Given the description of an element on the screen output the (x, y) to click on. 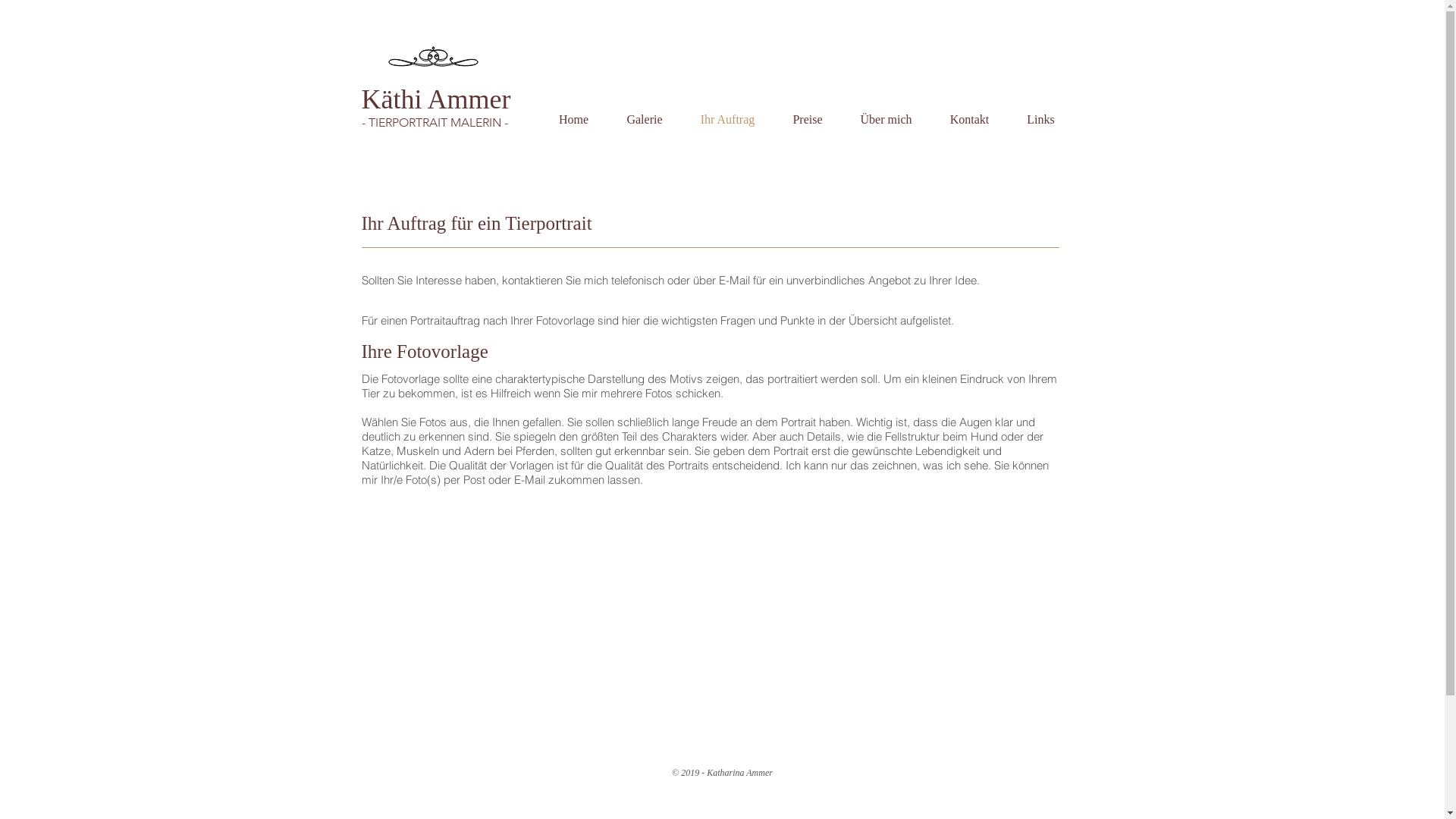
Preise Element type: text (806, 119)
Galerie Element type: text (644, 119)
Home Element type: text (573, 119)
Ihr Auftrag Element type: text (726, 119)
Kontakt Element type: text (969, 119)
Links Element type: text (1040, 119)
